Given the description of an element on the screen output the (x, y) to click on. 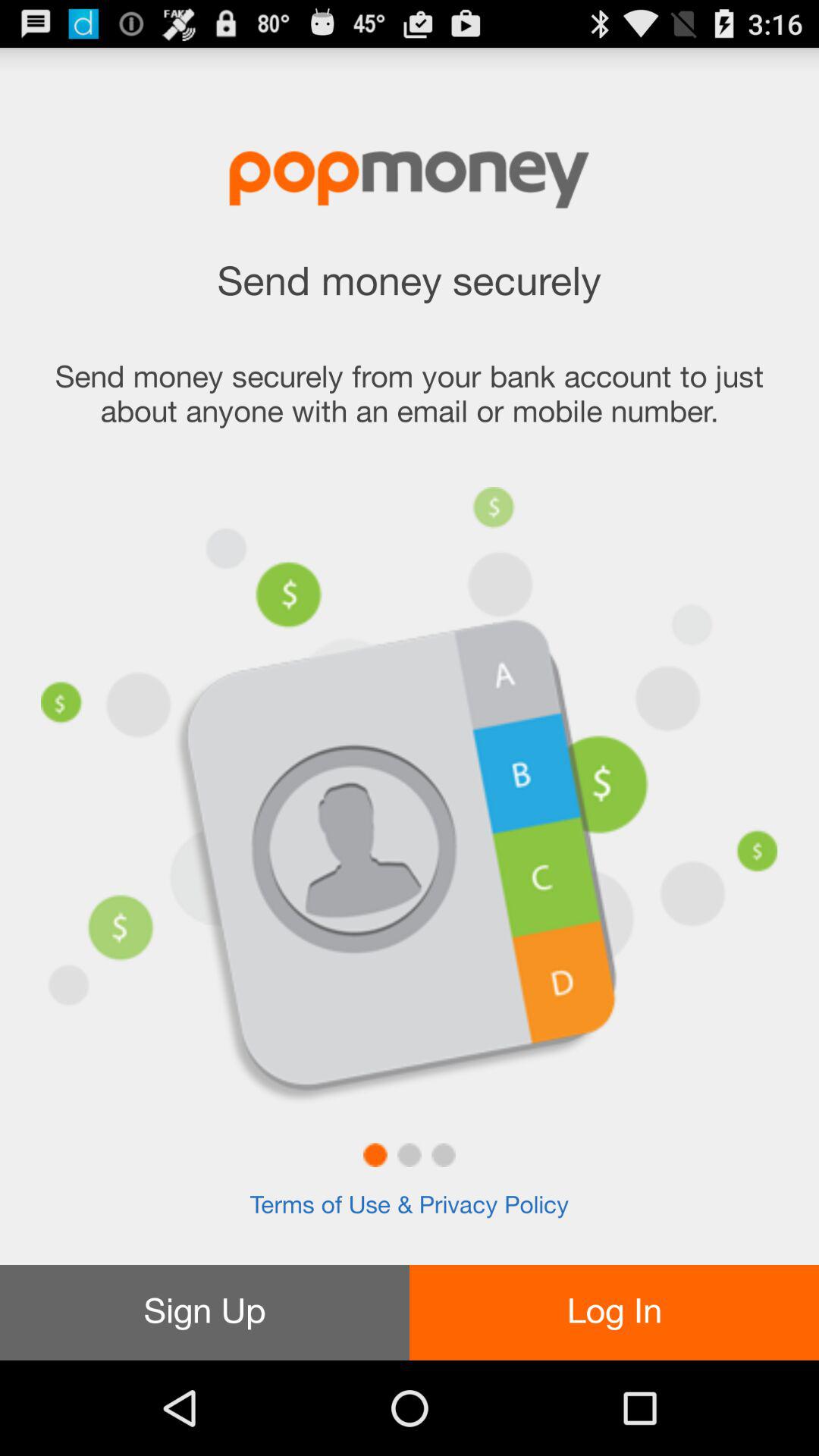
open the icon at the bottom right corner (614, 1312)
